Given the description of an element on the screen output the (x, y) to click on. 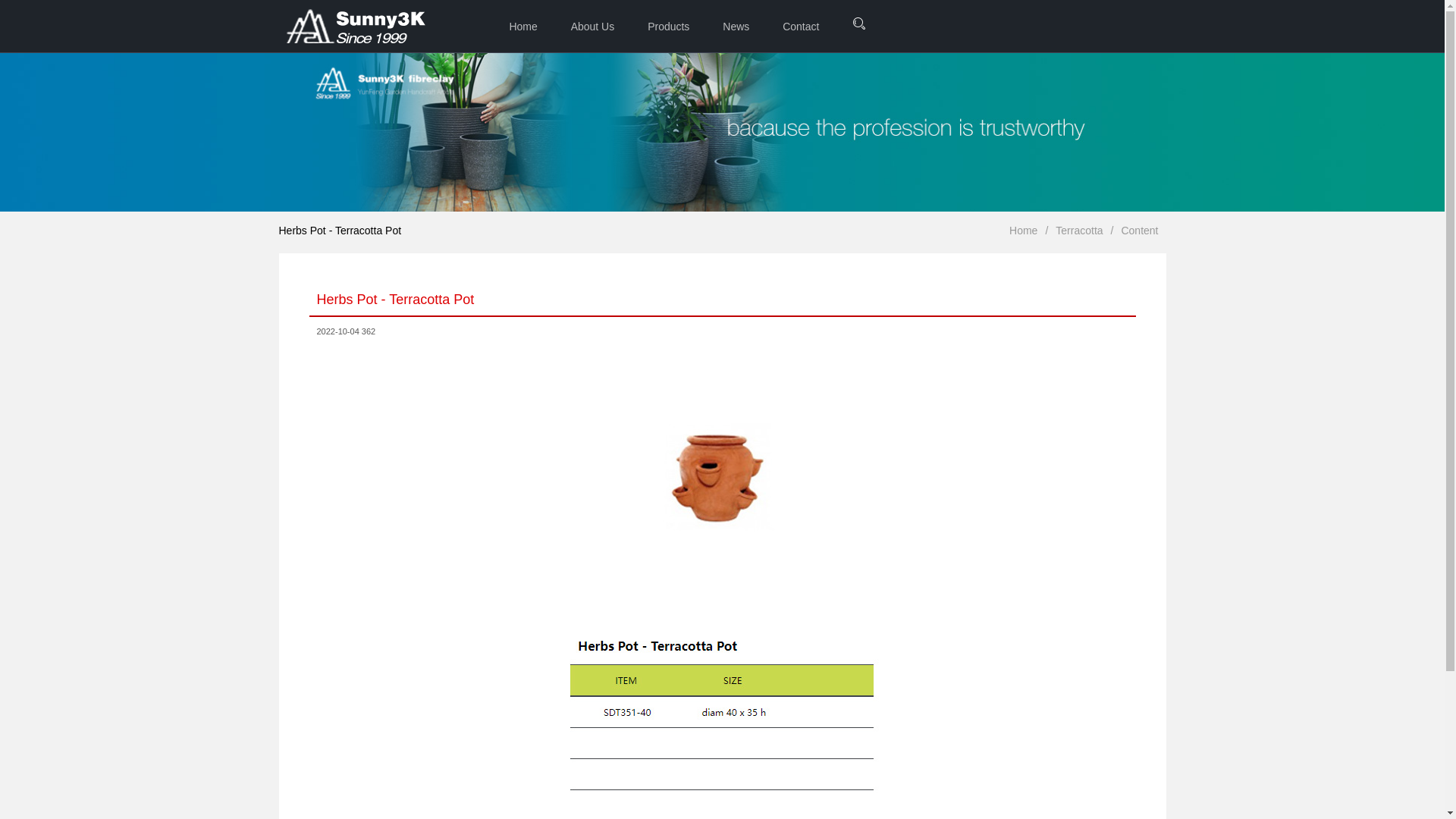
About Us Element type: text (592, 25)
Contact Element type: text (800, 25)
Content Element type: text (1138, 230)
Home Element type: text (1023, 230)
Home Element type: text (522, 25)
News Element type: text (735, 25)
Terracotta Element type: text (1078, 230)
Products Element type: text (668, 25)
